Given the description of an element on the screen output the (x, y) to click on. 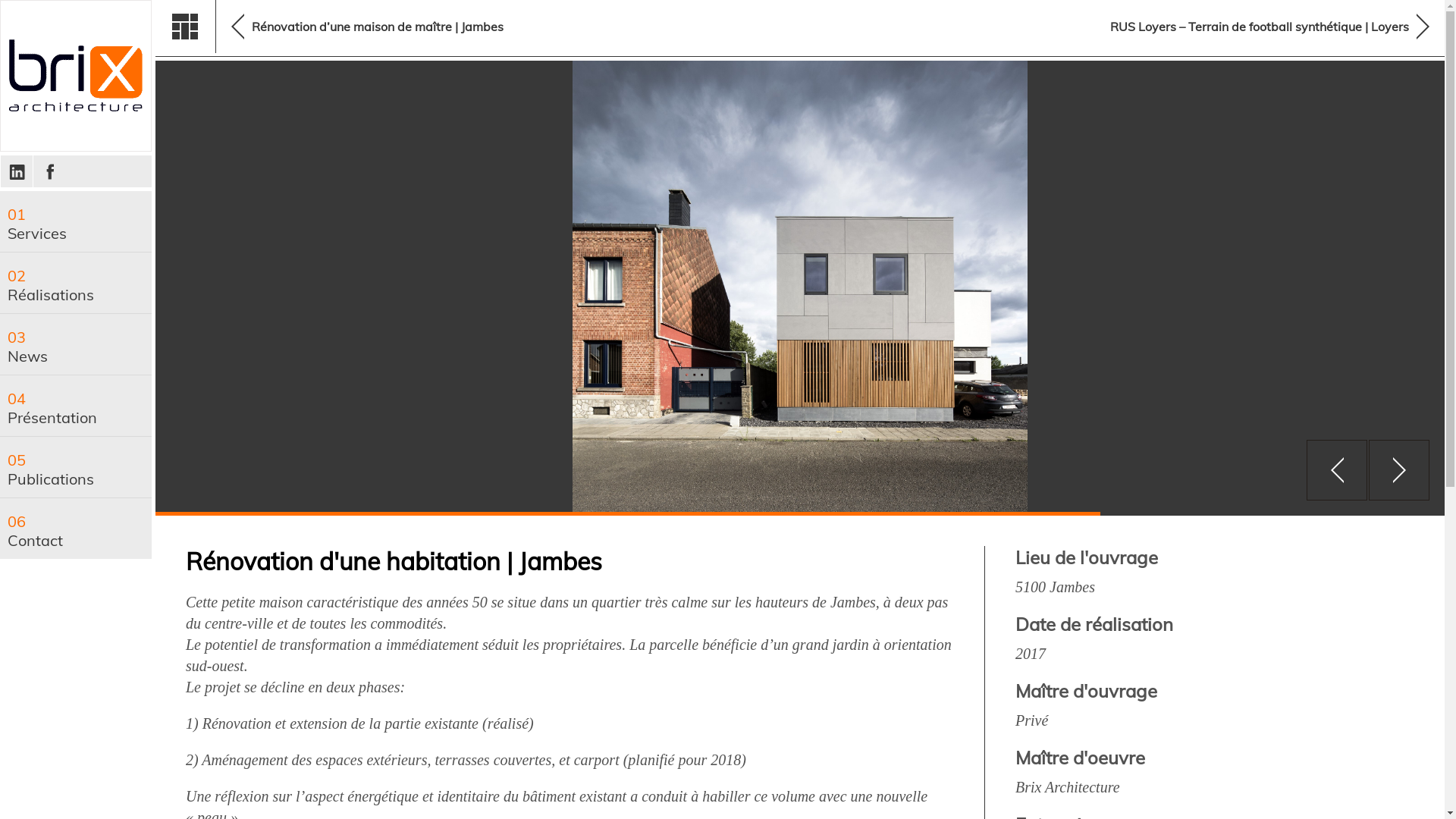
05
Publications Element type: text (75, 466)
03
News Element type: text (75, 343)
01
Services Element type: text (75, 221)
06
Contact Element type: text (75, 528)
